Given the description of an element on the screen output the (x, y) to click on. 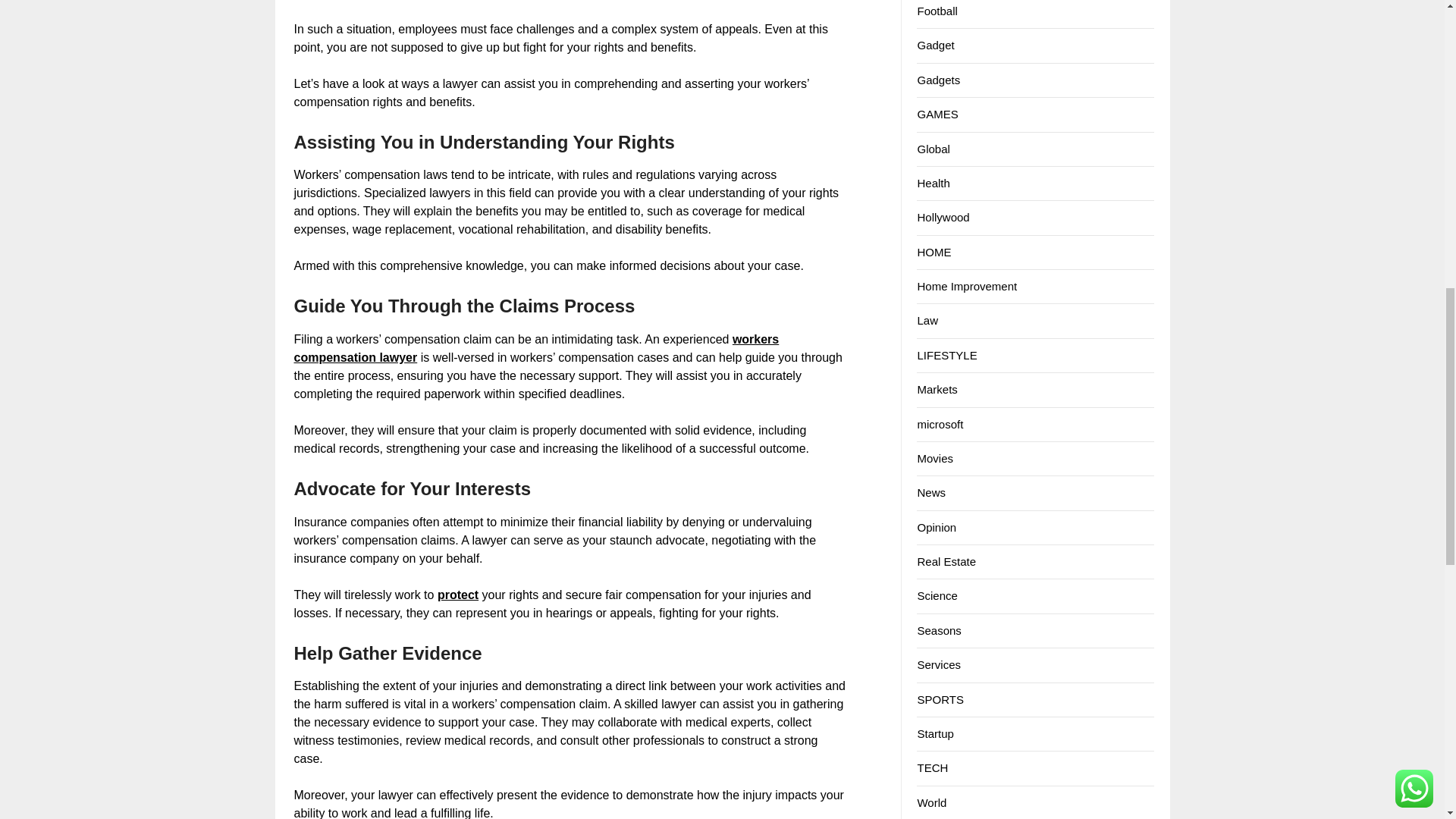
protect (458, 594)
workers compensation lawyer (536, 347)
